Given the description of an element on the screen output the (x, y) to click on. 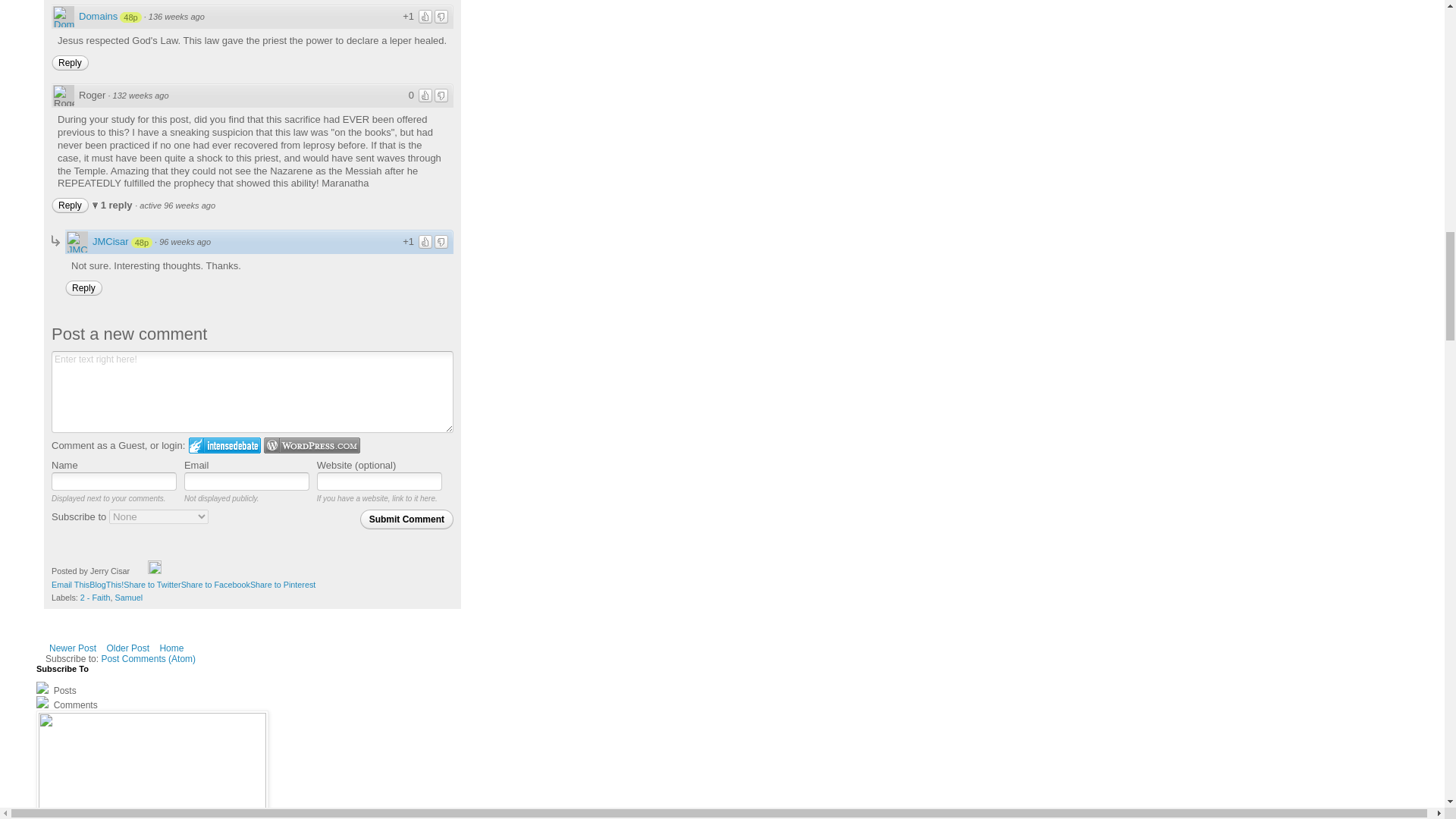
BlogThis! (105, 583)
Email This (69, 583)
Email Post (140, 570)
Comment Permalink (140, 94)
Edit Post (154, 570)
Comment Permalink (176, 16)
Comment Permalink (184, 241)
